Given the description of an element on the screen output the (x, y) to click on. 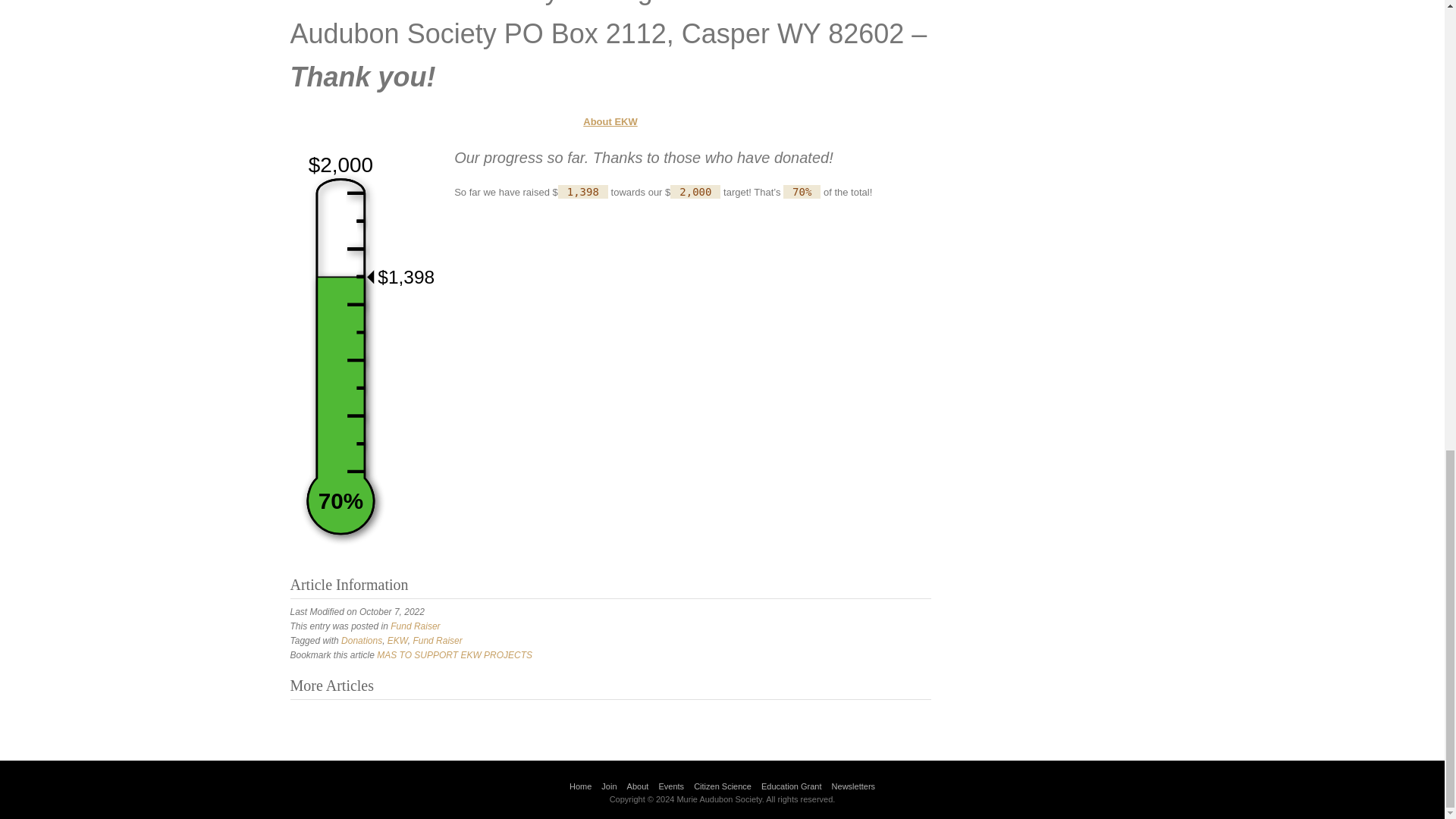
Fund Raiser (436, 640)
About (638, 786)
EKW (397, 640)
Join (608, 786)
Education Grant (791, 786)
Donations (360, 640)
Events (671, 786)
Citizen Science (722, 786)
Newsletters (853, 786)
About EKW (610, 121)
